Given the description of an element on the screen output the (x, y) to click on. 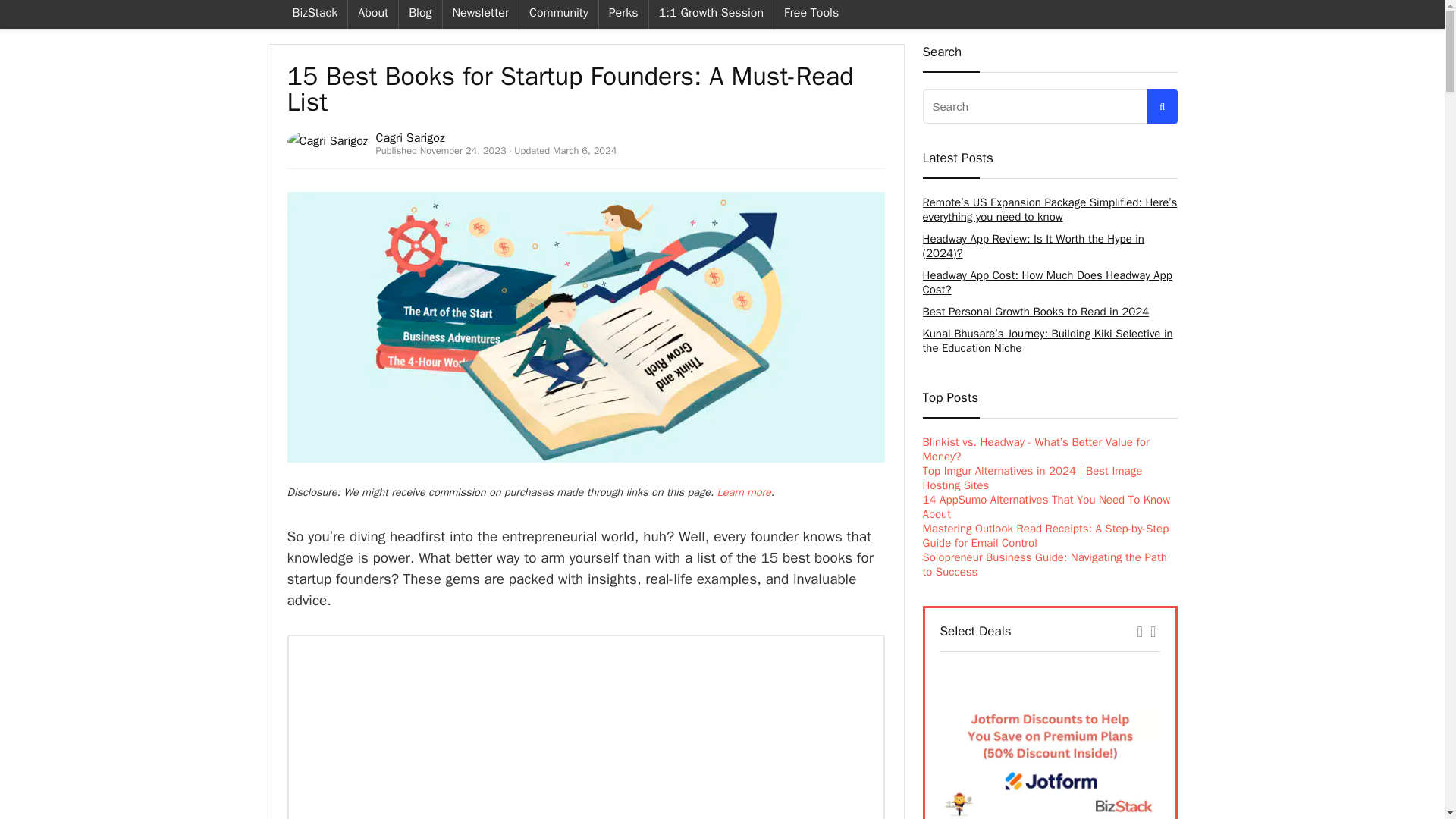
Learn more (744, 491)
Community (558, 14)
Newsletter (480, 14)
About (372, 14)
1:1 Growth Session (711, 14)
Free Tools (811, 14)
BizStack (314, 14)
About Us (372, 14)
Cagri Sarigoz (410, 137)
Perks (622, 14)
newsletter-form (584, 726)
Blog (419, 14)
